Given the description of an element on the screen output the (x, y) to click on. 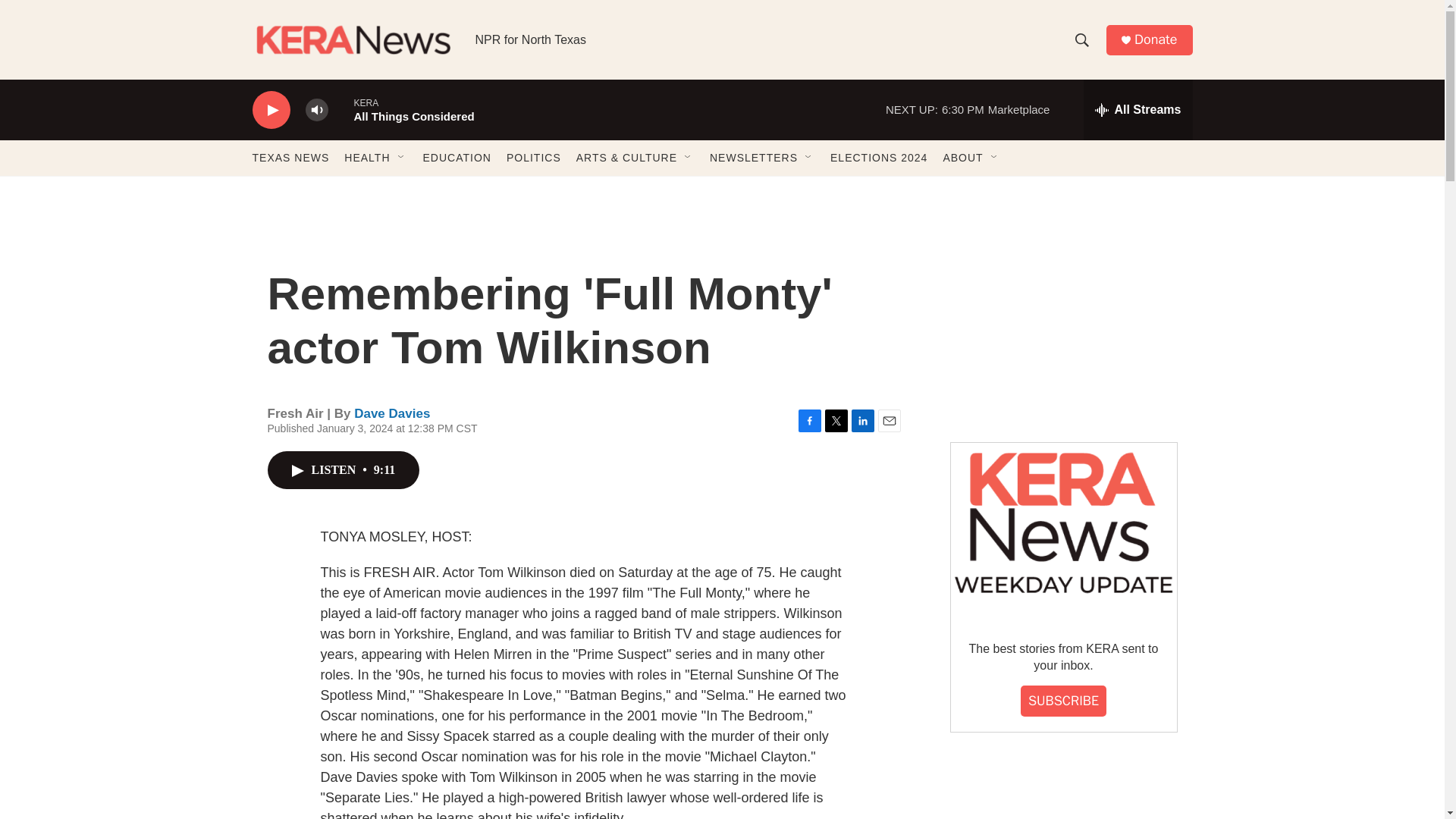
3rd party ad content (1062, 316)
Show Search (1081, 39)
